Given the description of an element on the screen output the (x, y) to click on. 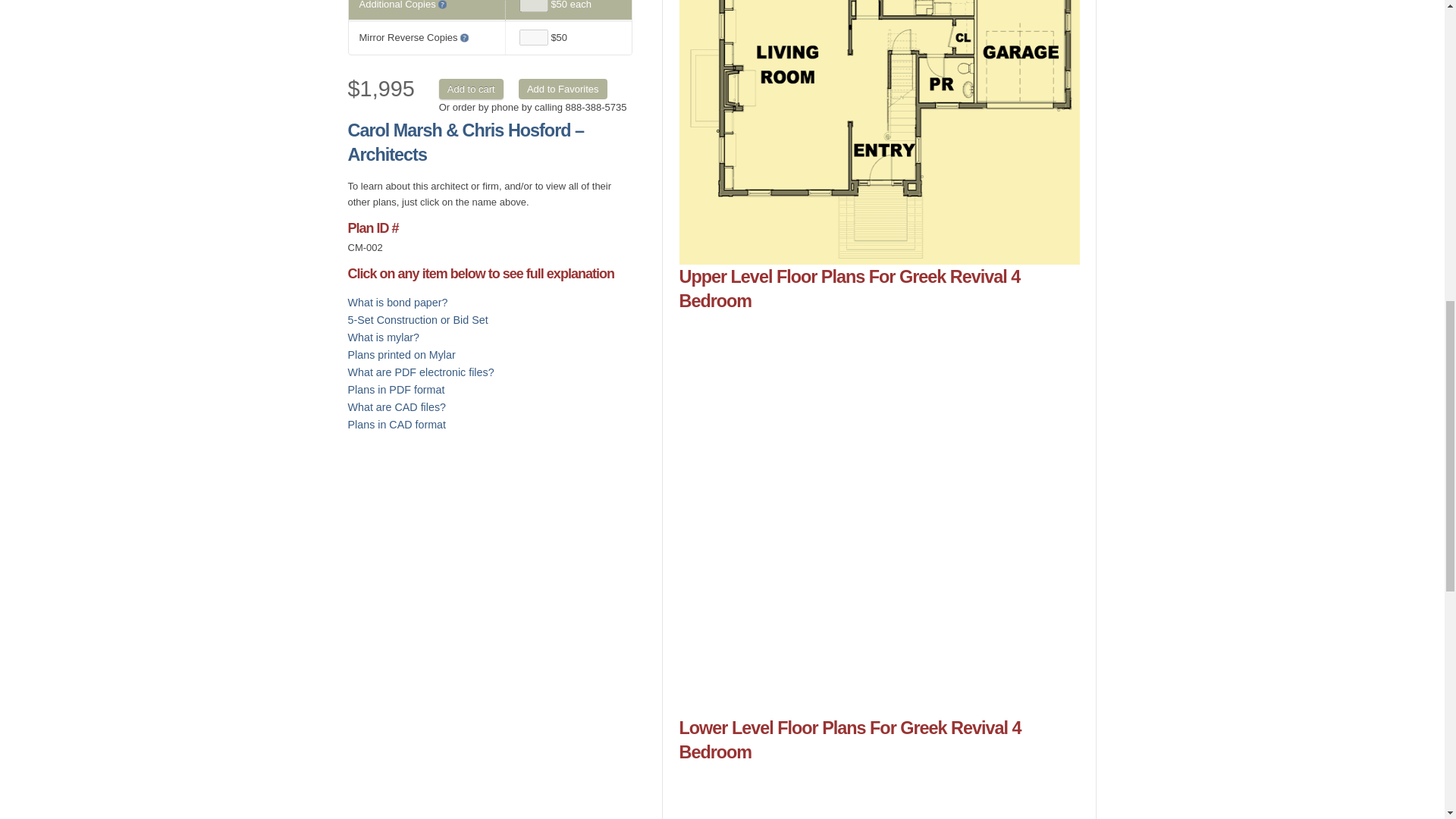
What are PDF electronic files? (421, 372)
What is bond paper? (397, 302)
Plans in PDF format (396, 389)
What is mylar? (383, 337)
What are CAD files? (396, 407)
5-Set Construction or Bid Set (417, 319)
Plans in CAD format (396, 424)
Add to Favorites (562, 88)
Plans printed on Mylar (401, 354)
Add to cart (471, 88)
